Given the description of an element on the screen output the (x, y) to click on. 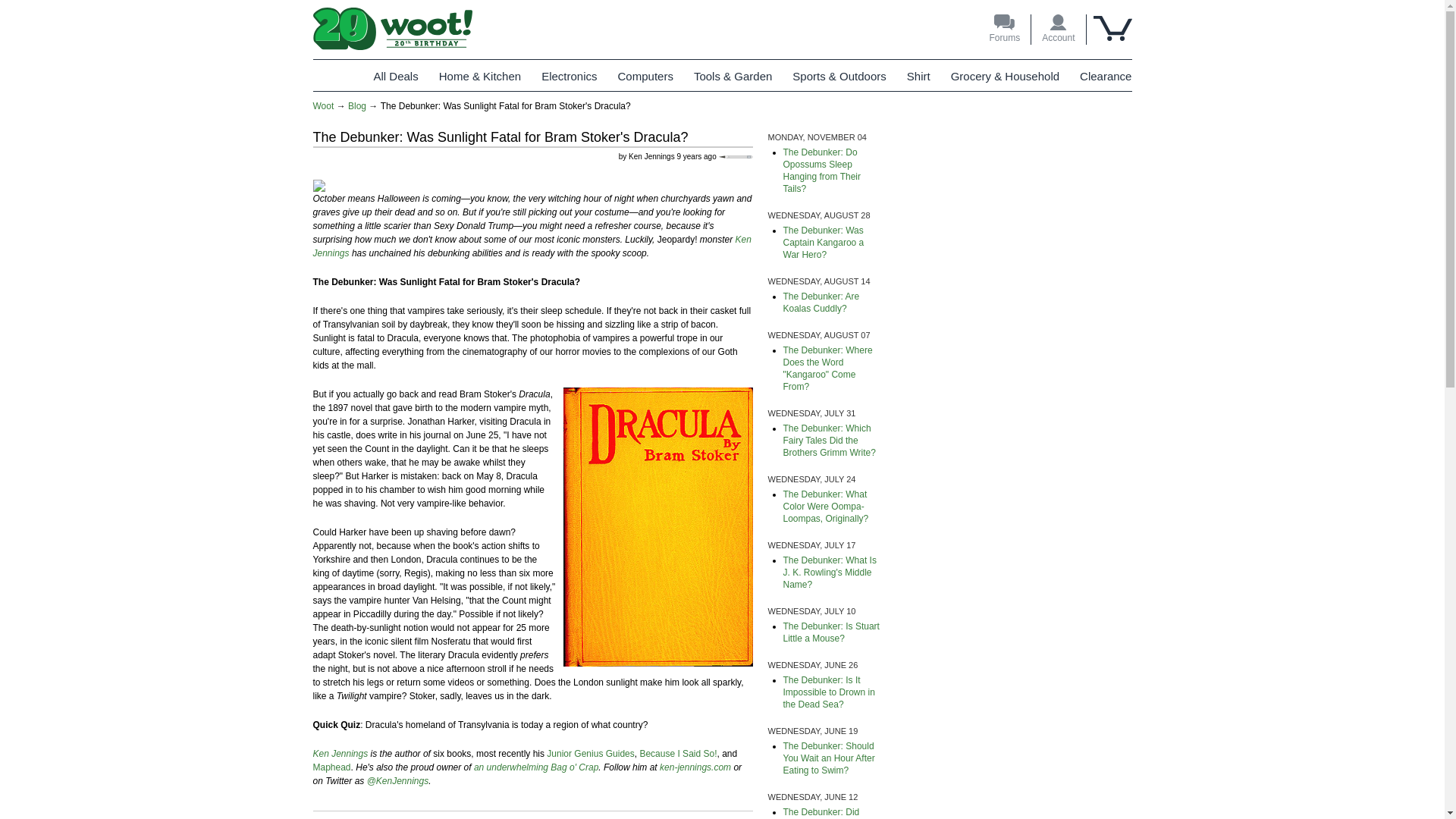
Forums (1004, 29)
Clearance (1105, 75)
Shirt (918, 75)
Ken Jennings (532, 246)
Blog (356, 105)
an underwhelming Bag o' Crap (536, 767)
The Debunker: Where Does the Word "Kangaroo" Come From? (827, 368)
The Debunker: Was Captain Kangaroo a War Hero? (823, 242)
Junior Genius Guides (590, 753)
Maphead (331, 767)
